Given the description of an element on the screen output the (x, y) to click on. 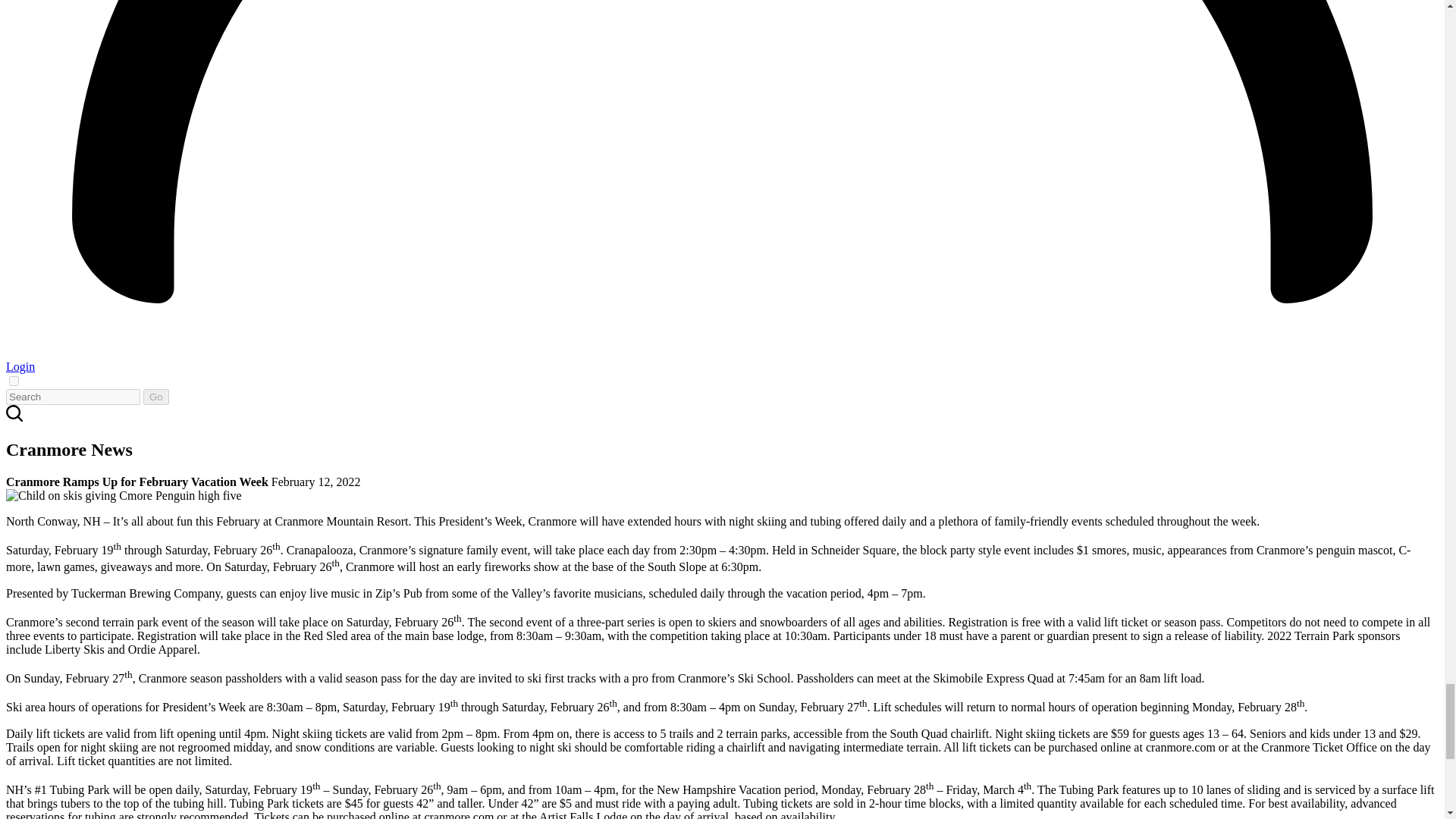
Go (155, 396)
on (13, 380)
Go (155, 396)
Click to display search field (14, 412)
on (13, 380)
